Given the description of an element on the screen output the (x, y) to click on. 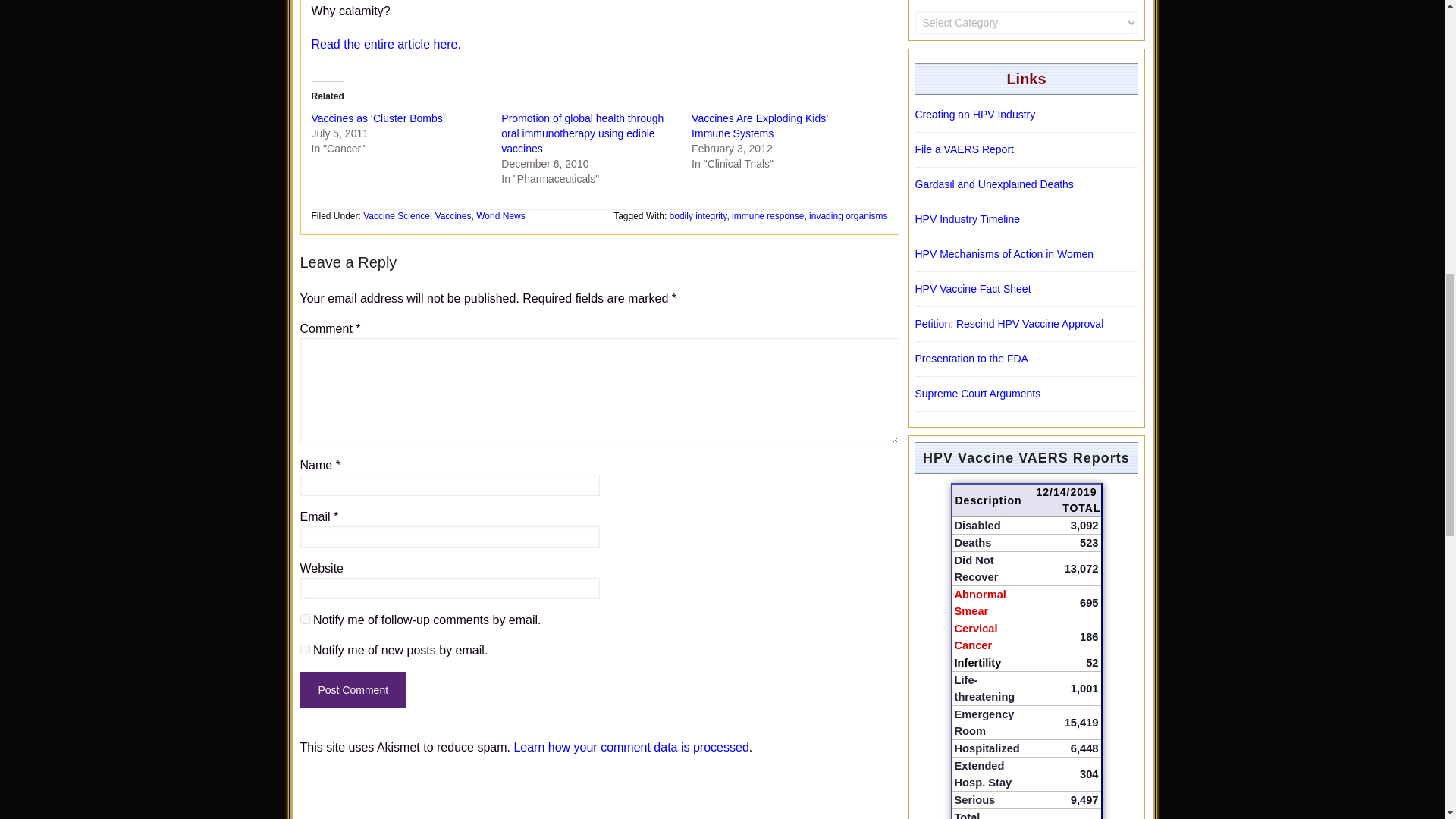
subscribe (304, 619)
Post Comment (353, 689)
subscribe (304, 649)
